Given the description of an element on the screen output the (x, y) to click on. 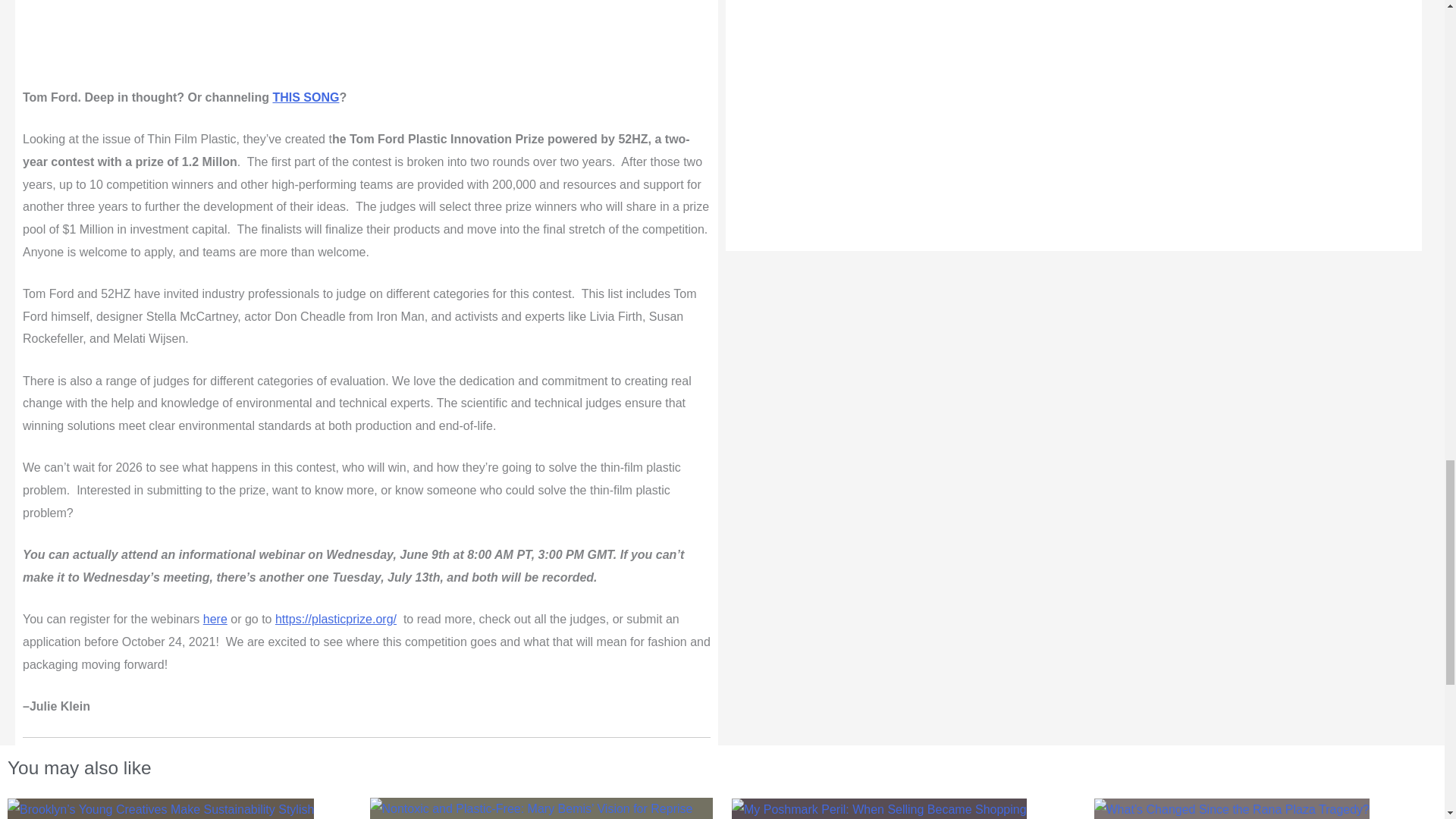
here (215, 618)
THIS SONG (305, 97)
